Given the description of an element on the screen output the (x, y) to click on. 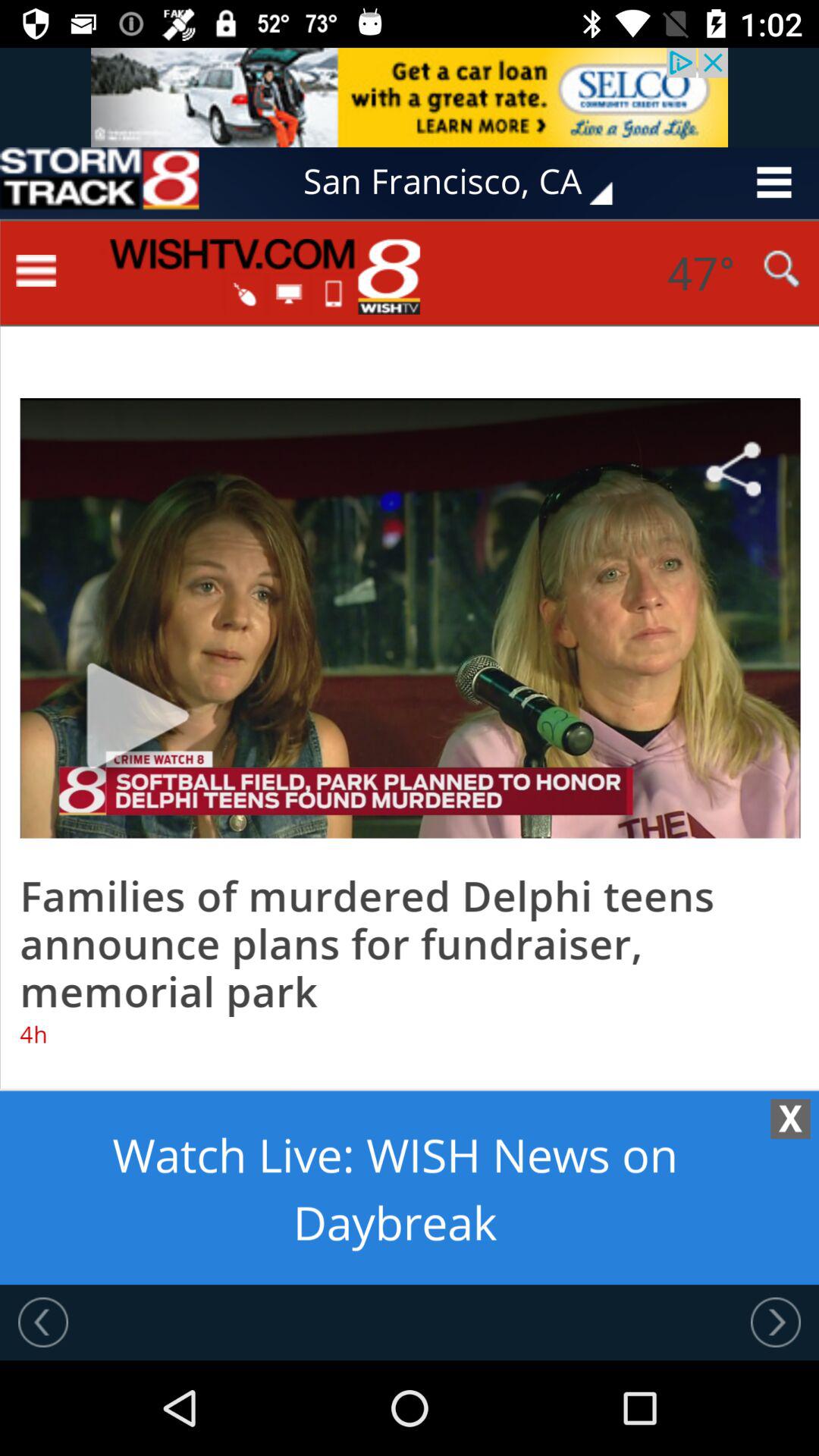
go to previous (775, 1322)
